Given the description of an element on the screen output the (x, y) to click on. 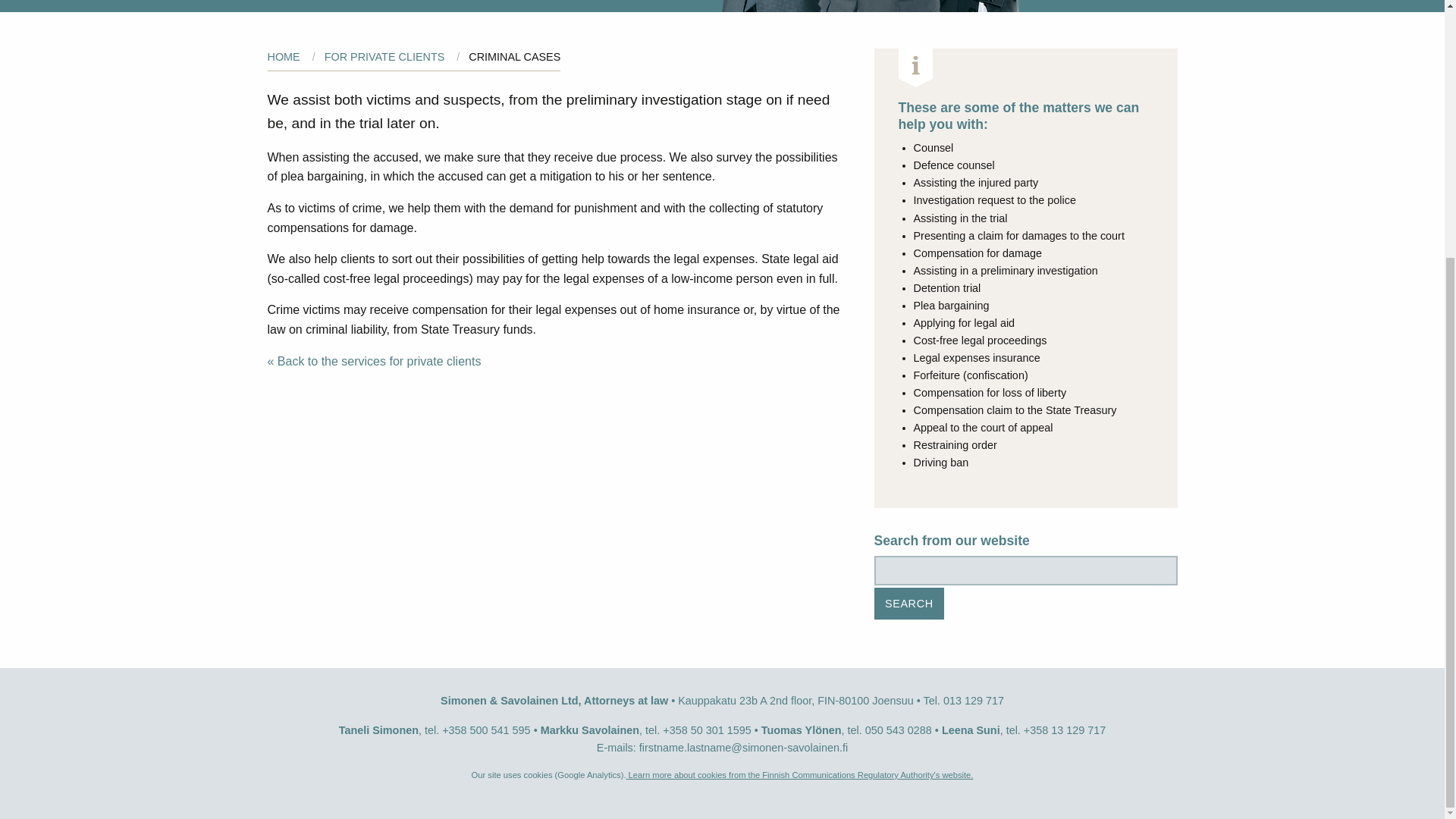
050 543 0288 (897, 729)
Search (909, 603)
FOR PRIVATE CLIENTS (384, 56)
HOME (282, 56)
013 129 717 (973, 700)
Search (909, 603)
